Given the description of an element on the screen output the (x, y) to click on. 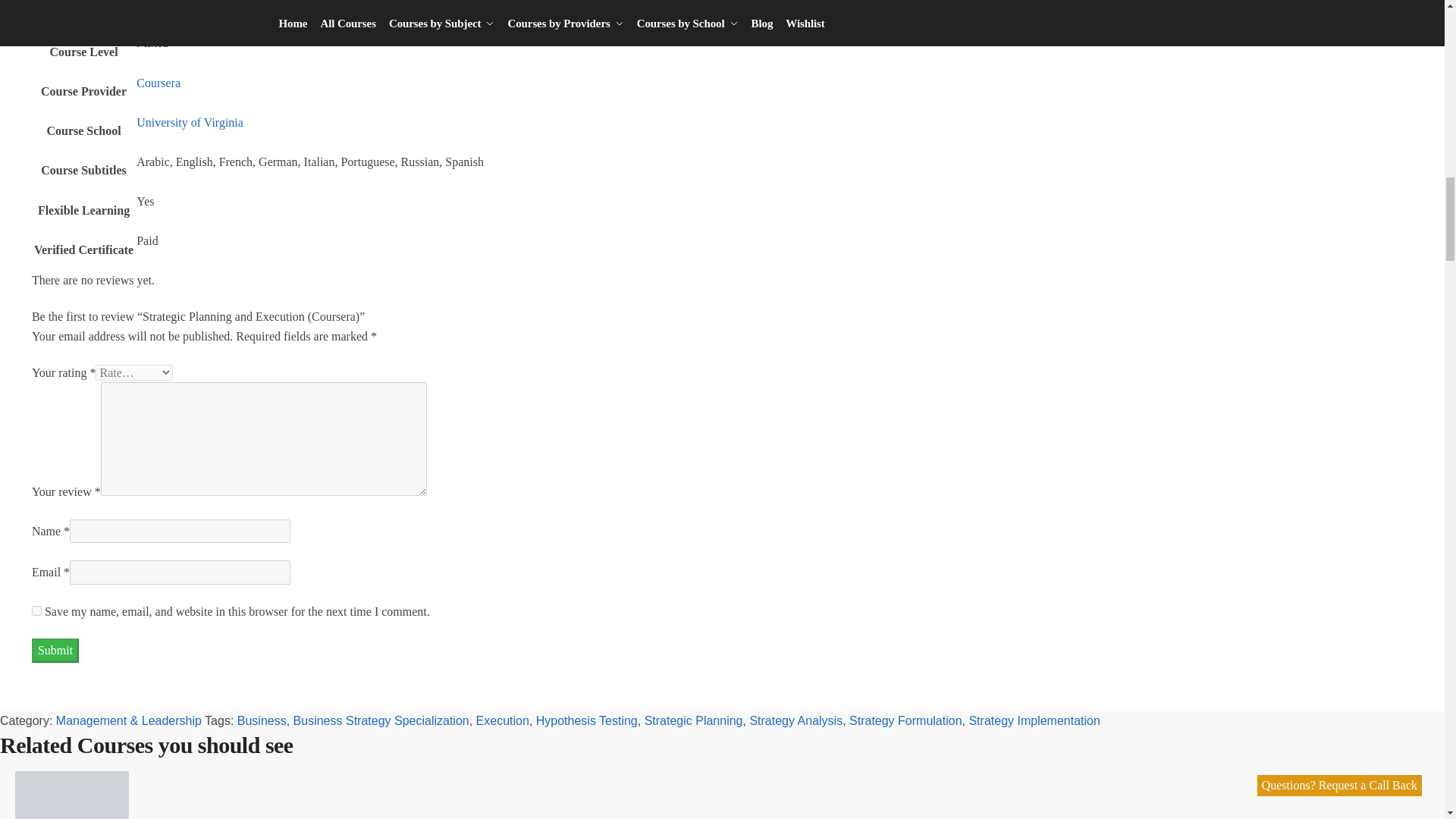
Managing Employee Compensation Coursera course (71, 795)
Submit (55, 650)
yes (37, 610)
